Given the description of an element on the screen output the (x, y) to click on. 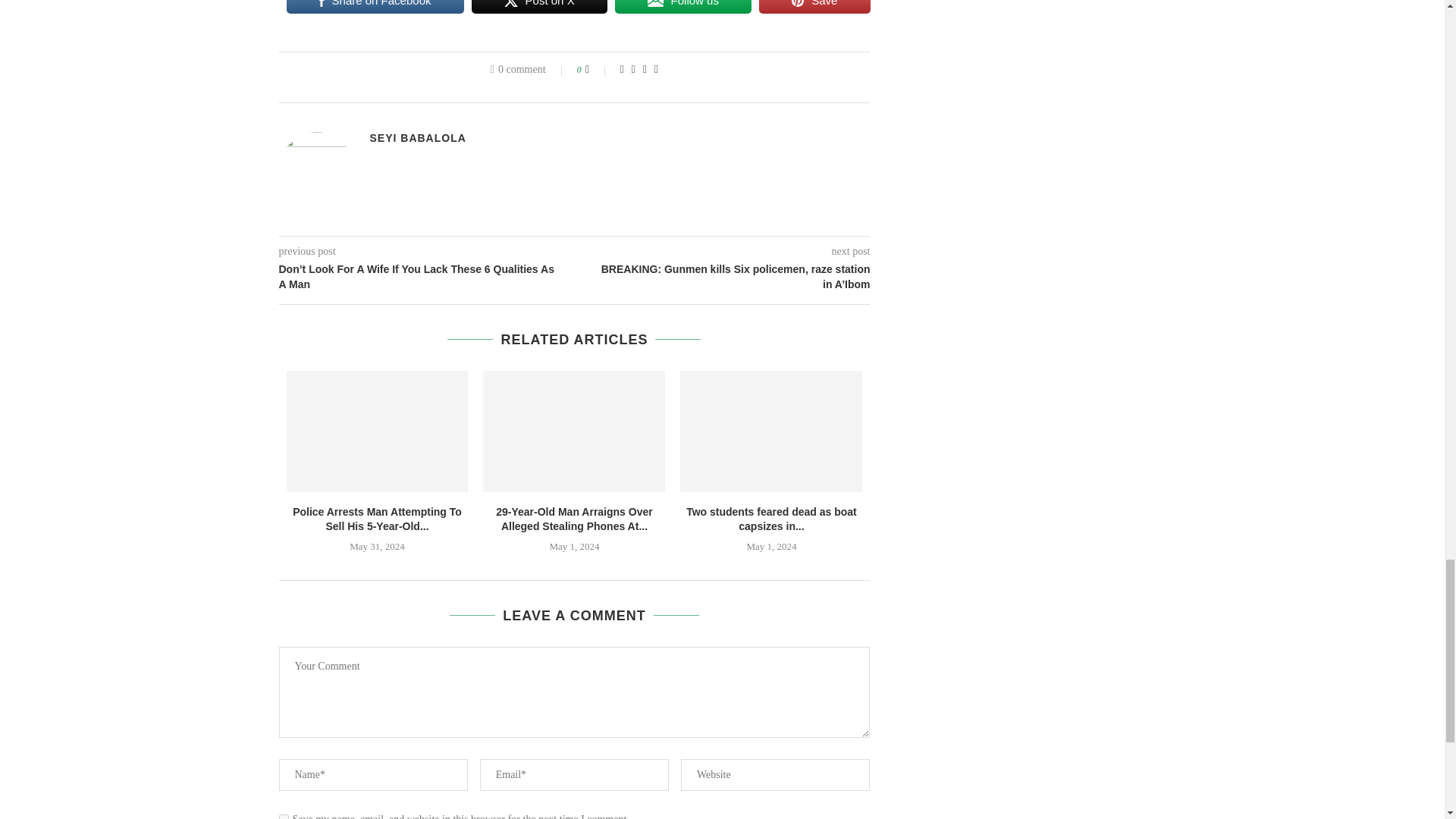
Author Seyi Babalola (417, 137)
yes (283, 816)
Like (597, 69)
